Given the description of an element on the screen output the (x, y) to click on. 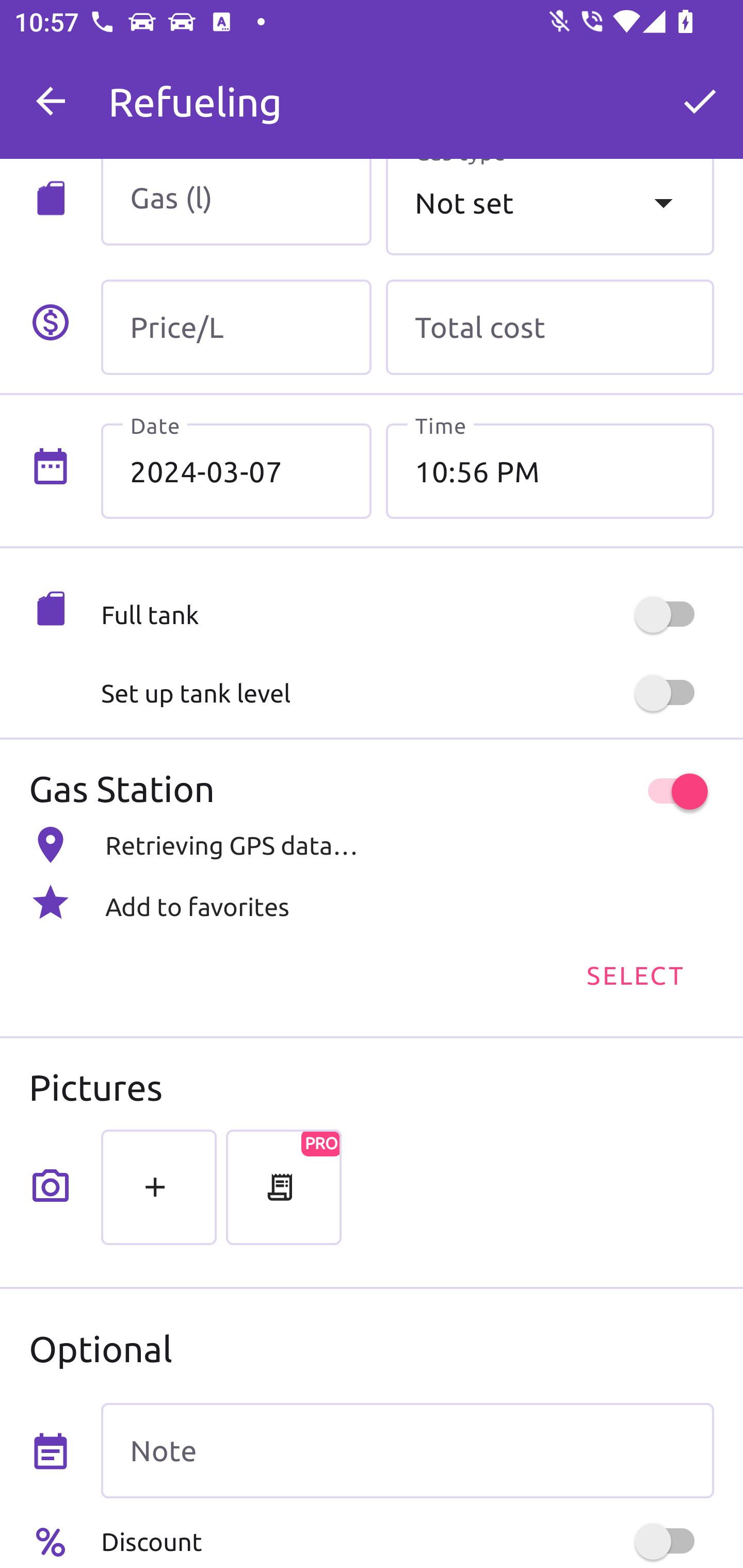
M My Car 0 km (407, 92)
Navigate up (50, 101)
OK (699, 101)
Gas (l) (236, 202)
Not set (549, 206)
Price/L (236, 326)
Total cost  (549, 326)
2024-03-07 (236, 471)
10:56 PM (549, 471)
Full tank (407, 614)
Set up tank level (407, 692)
Add to favorites (371, 902)
SELECT (634, 974)
Note (407, 1451)
Discount (407, 1541)
